Given the description of an element on the screen output the (x, y) to click on. 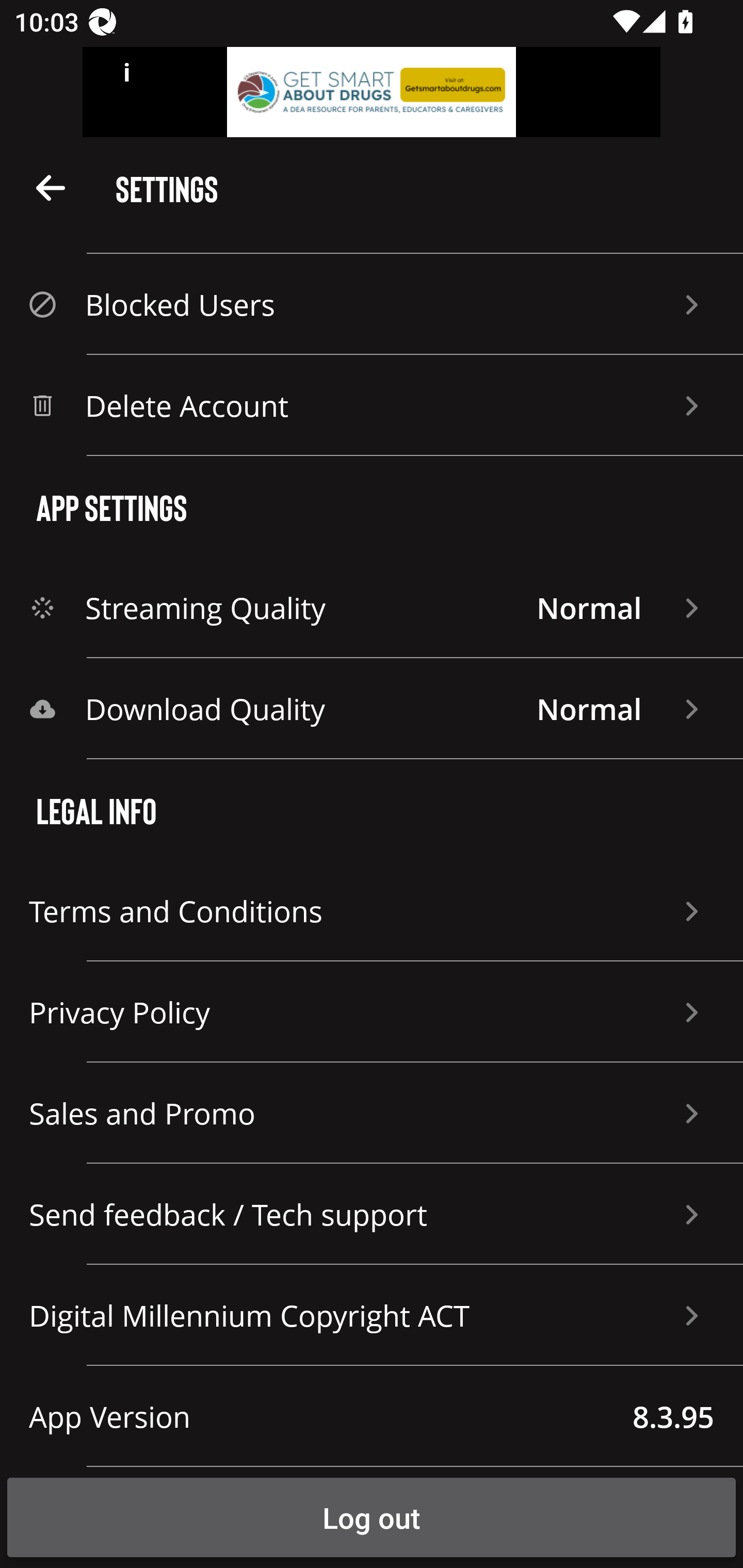
Description (50, 187)
Blocked Users (371, 304)
Delete Account (371, 405)
Streaming Quality Normal (371, 607)
Download Quality Normal (371, 708)
Terms and Conditions (371, 910)
Privacy Policy (371, 1012)
Sales and Promo (371, 1113)
Send feedback / Tech support (371, 1214)
Digital Millennium Copyright ACT (371, 1315)
Log out (371, 1517)
